Given the description of an element on the screen output the (x, y) to click on. 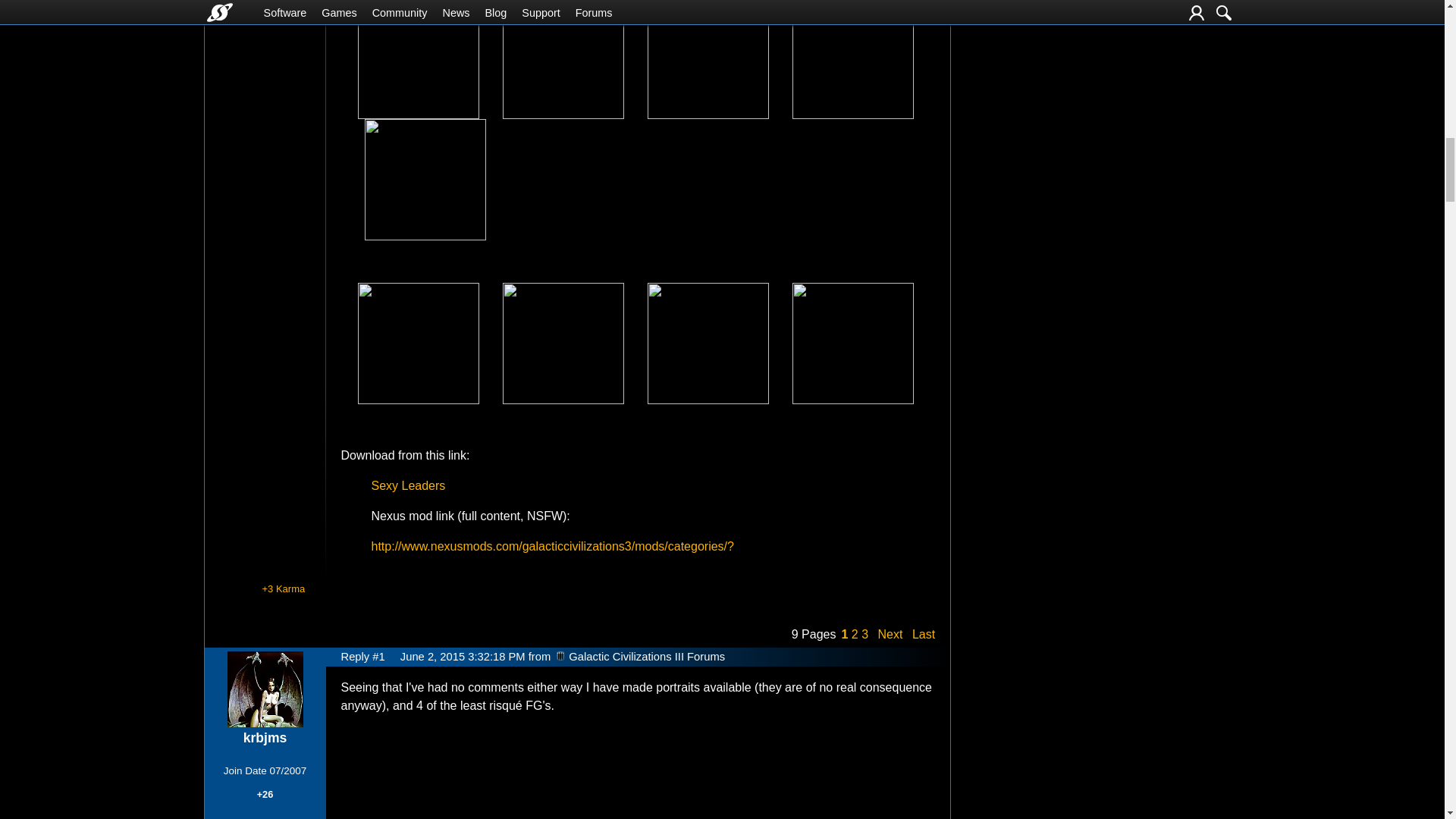
Search this post (876, 588)
